Given the description of an element on the screen output the (x, y) to click on. 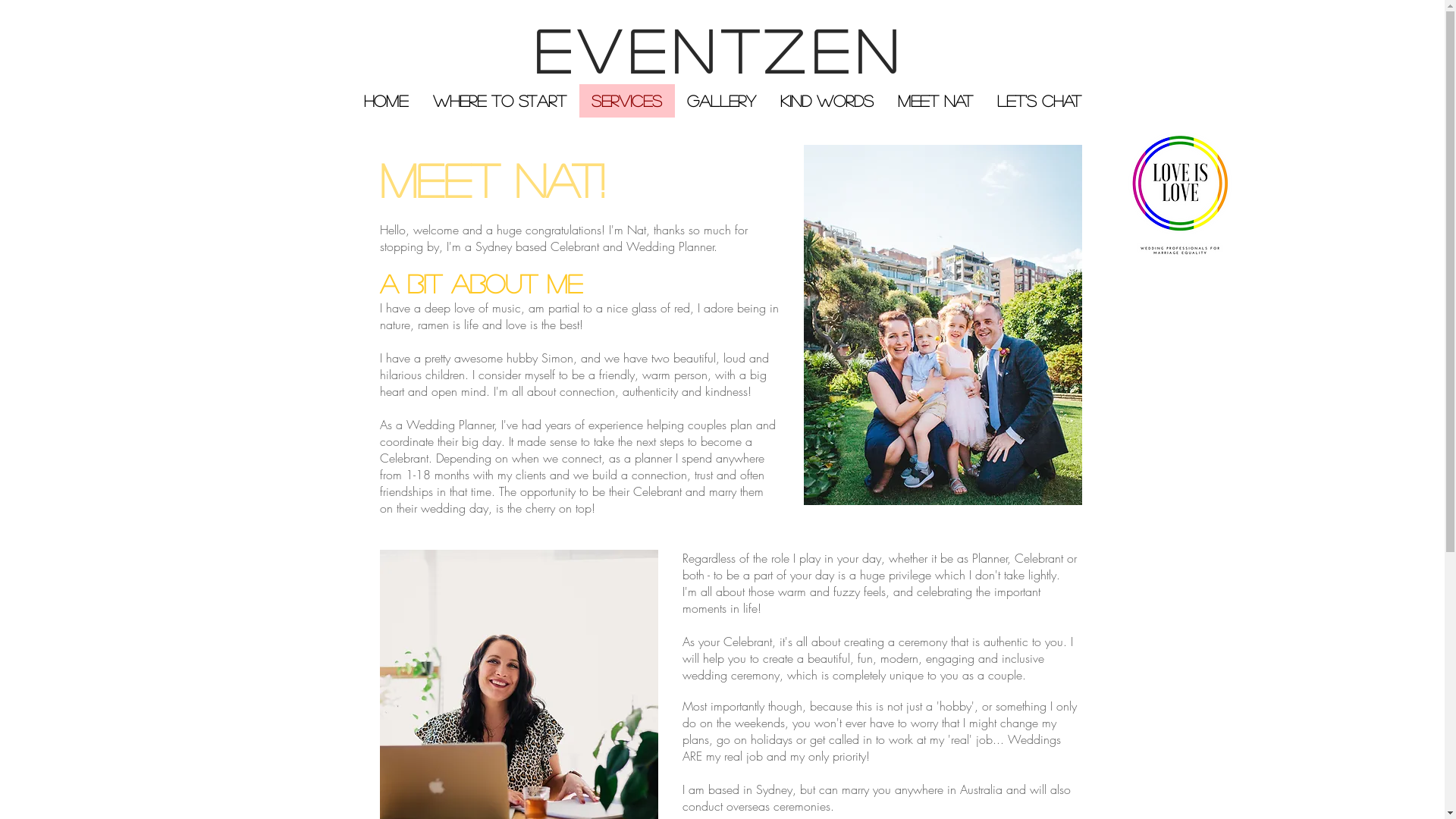
Home Element type: text (385, 100)
Let's Chat Element type: text (1038, 100)
Services Element type: text (626, 100)
Meet Nat Element type: text (935, 100)
Where To Start Element type: text (499, 100)
Kind Words Element type: text (825, 100)
Gallery Element type: text (721, 100)
